Given the description of an element on the screen output the (x, y) to click on. 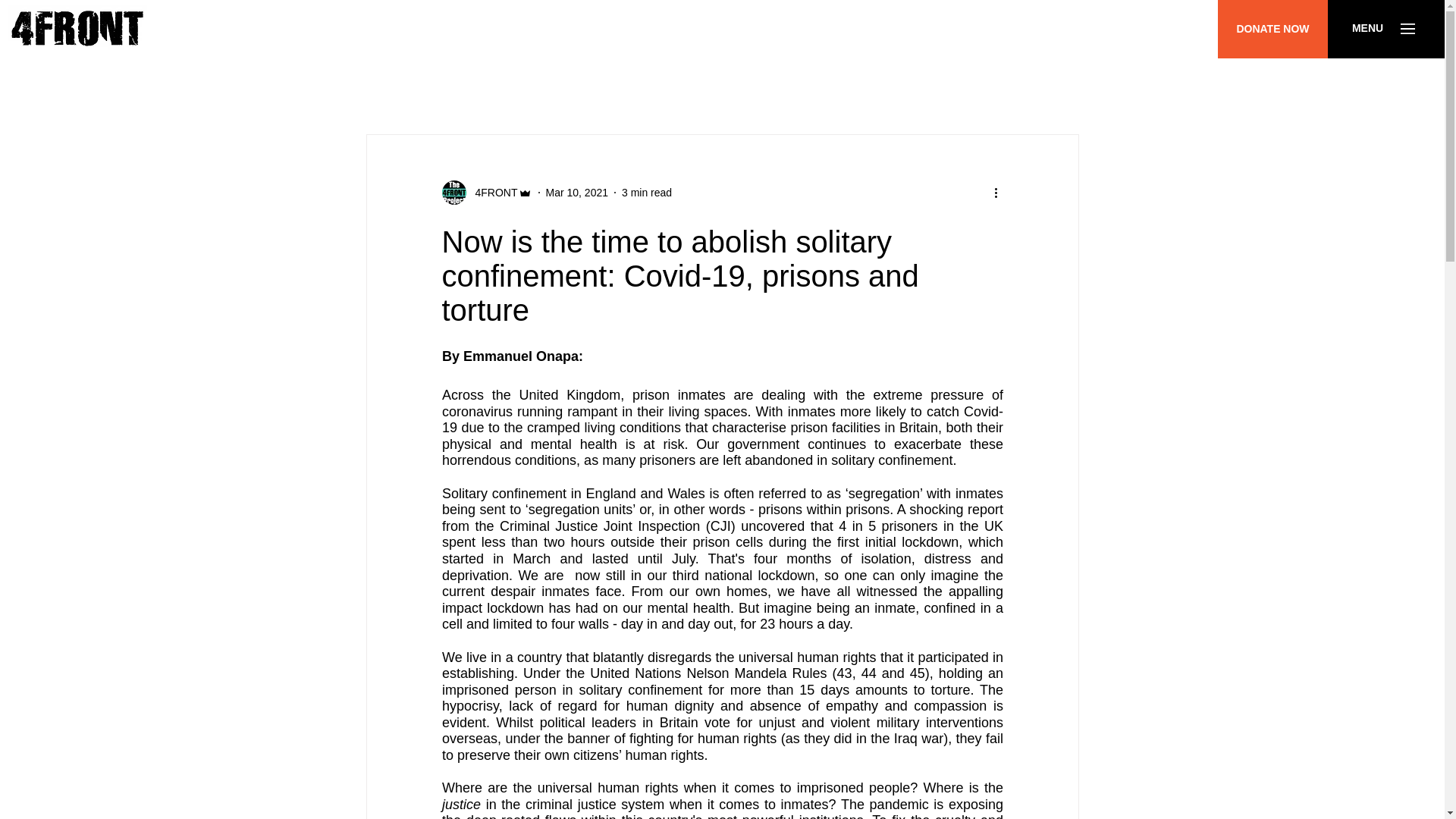
3 min read (646, 192)
4FRONT (486, 192)
MENU (1366, 28)
4FRONT (490, 192)
Mar 10, 2021 (577, 192)
DONATE NOW (1272, 29)
